Given the description of an element on the screen output the (x, y) to click on. 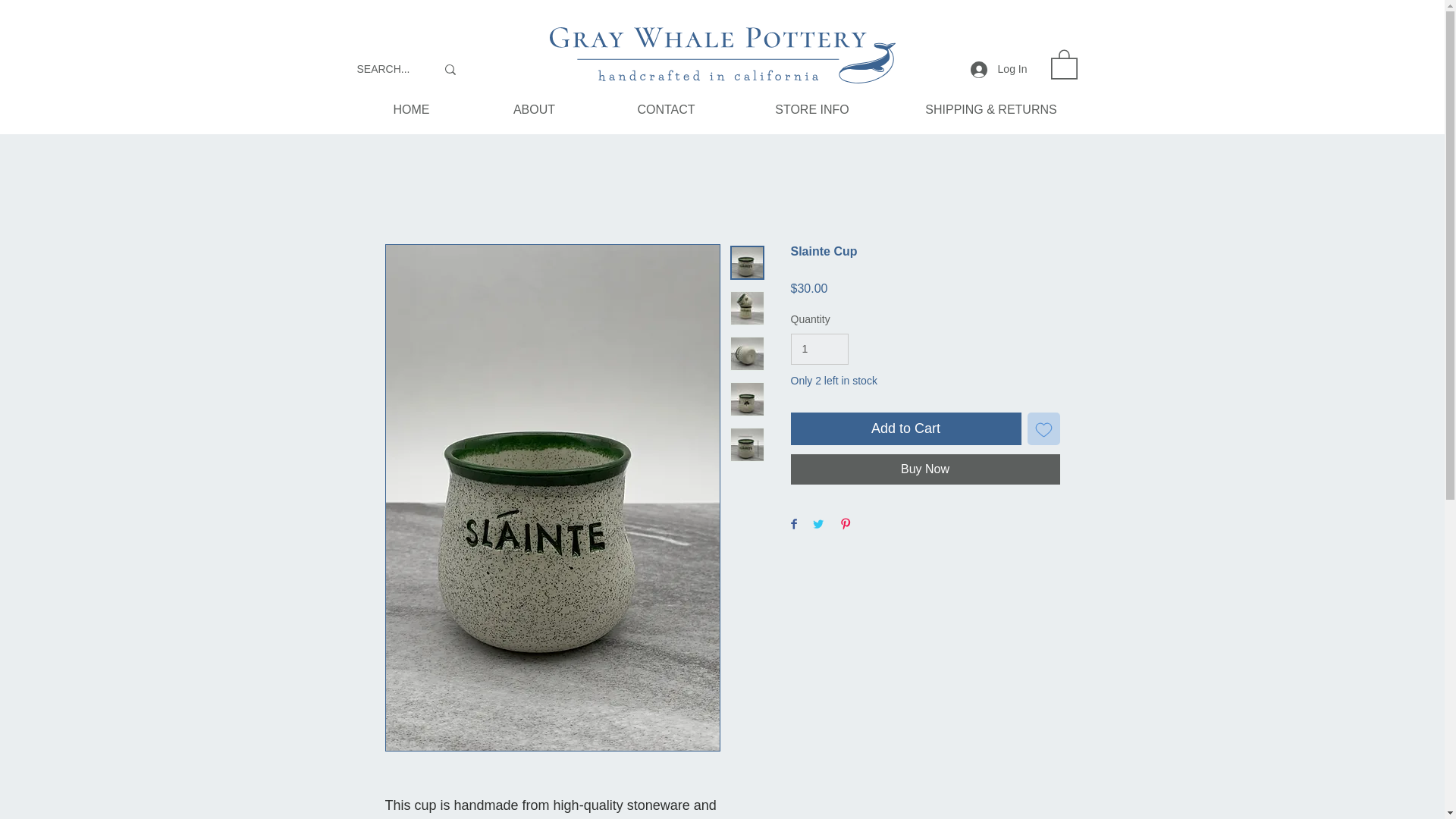
STORE INFO (811, 109)
Log In (998, 69)
HOME (410, 109)
ABOUT (533, 109)
CONTACT (665, 109)
1 (818, 348)
Add to Cart (905, 428)
Buy Now (924, 469)
